Given the description of an element on the screen output the (x, y) to click on. 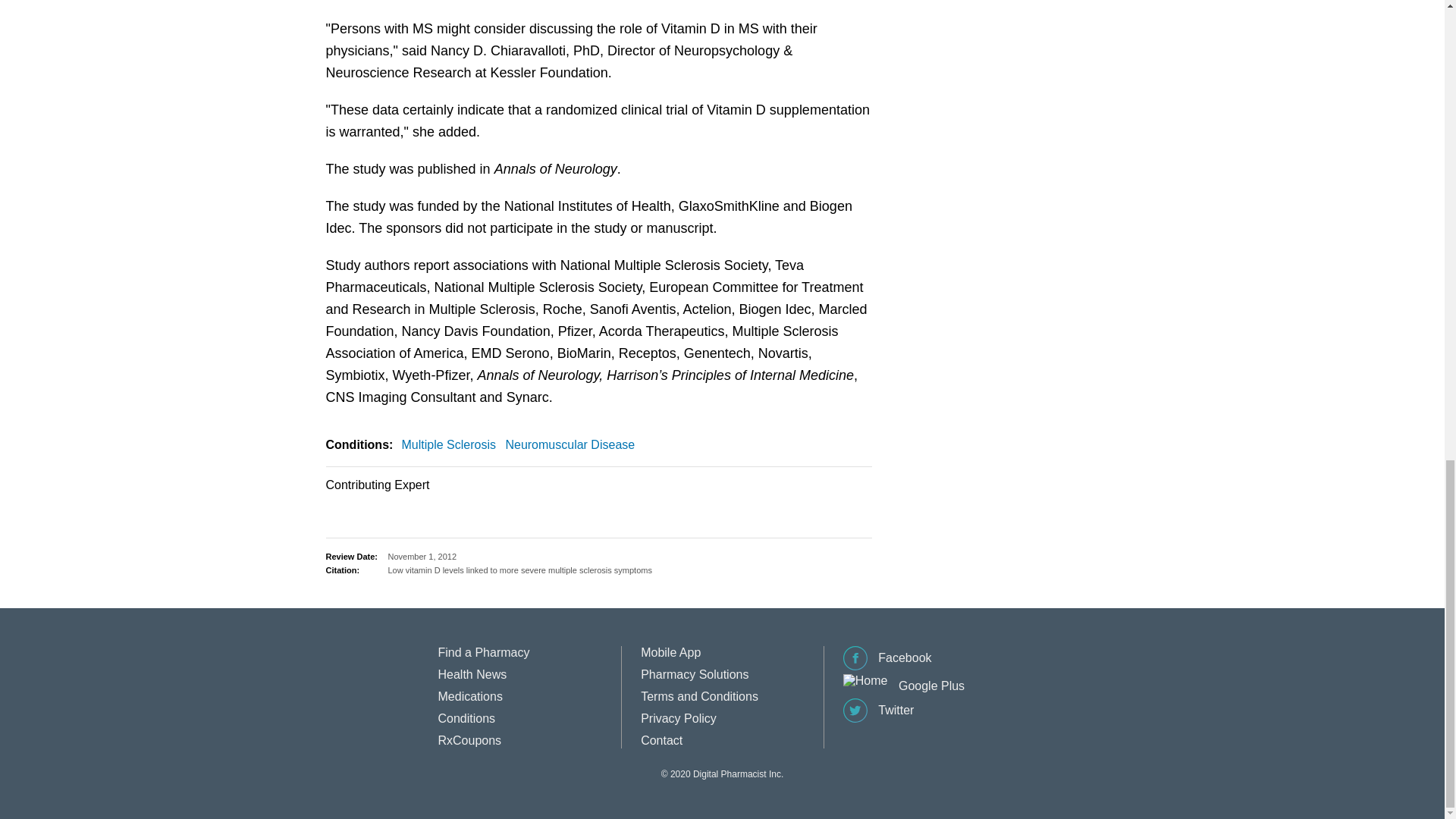
Neuromuscular Disease (572, 444)
Multiple Sclerosis (451, 444)
